Given the description of an element on the screen output the (x, y) to click on. 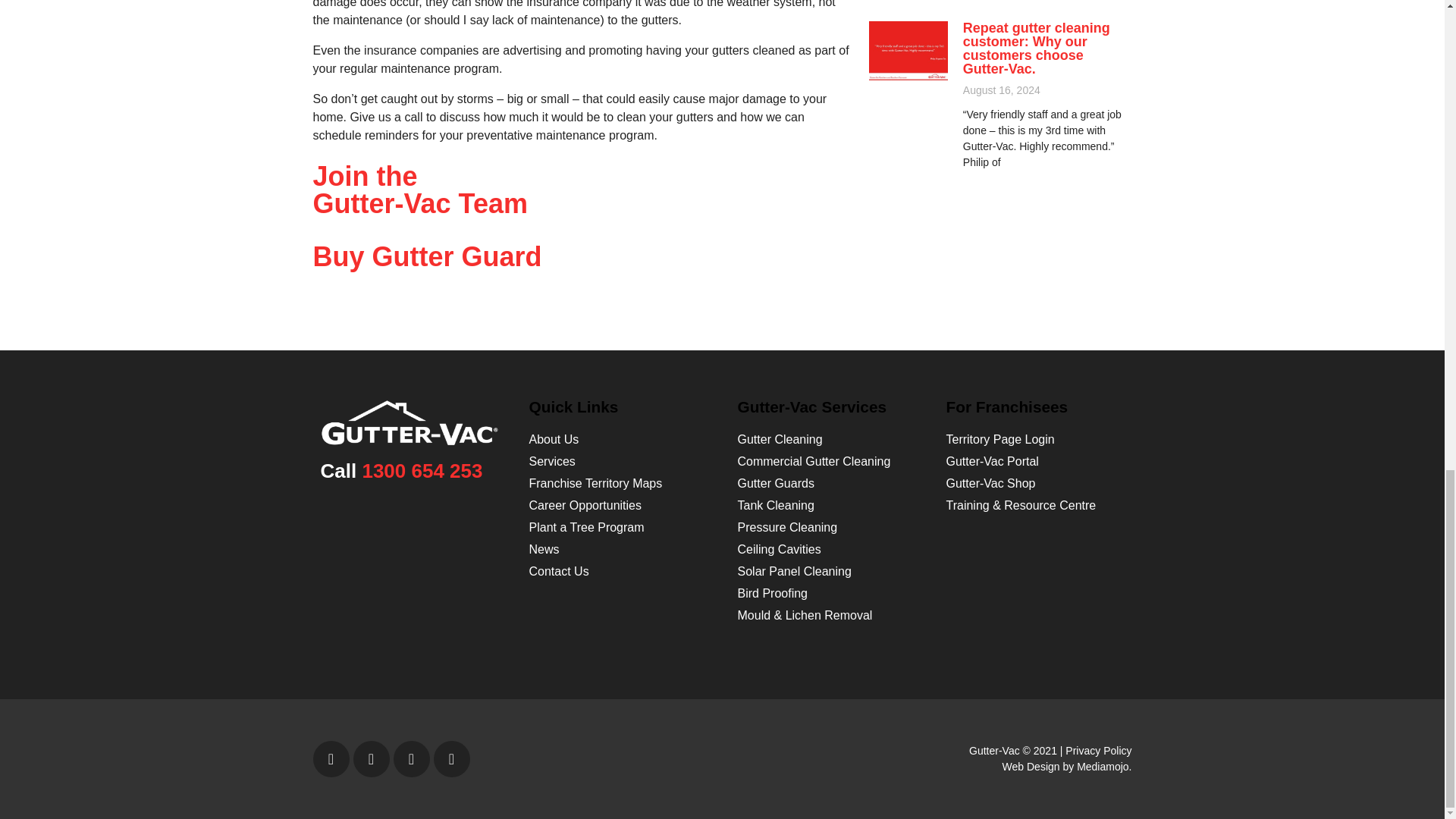
Commercial Gutter Cleaning (812, 461)
Gutter-Vac Portal (992, 461)
Buy Gutter Guard (427, 255)
News (544, 549)
Contact Us (420, 189)
Career Opportunities (559, 571)
Territory Page Login (585, 504)
Solar Panel Cleaning (1000, 439)
Gutter Guards (793, 571)
